Given the description of an element on the screen output the (x, y) to click on. 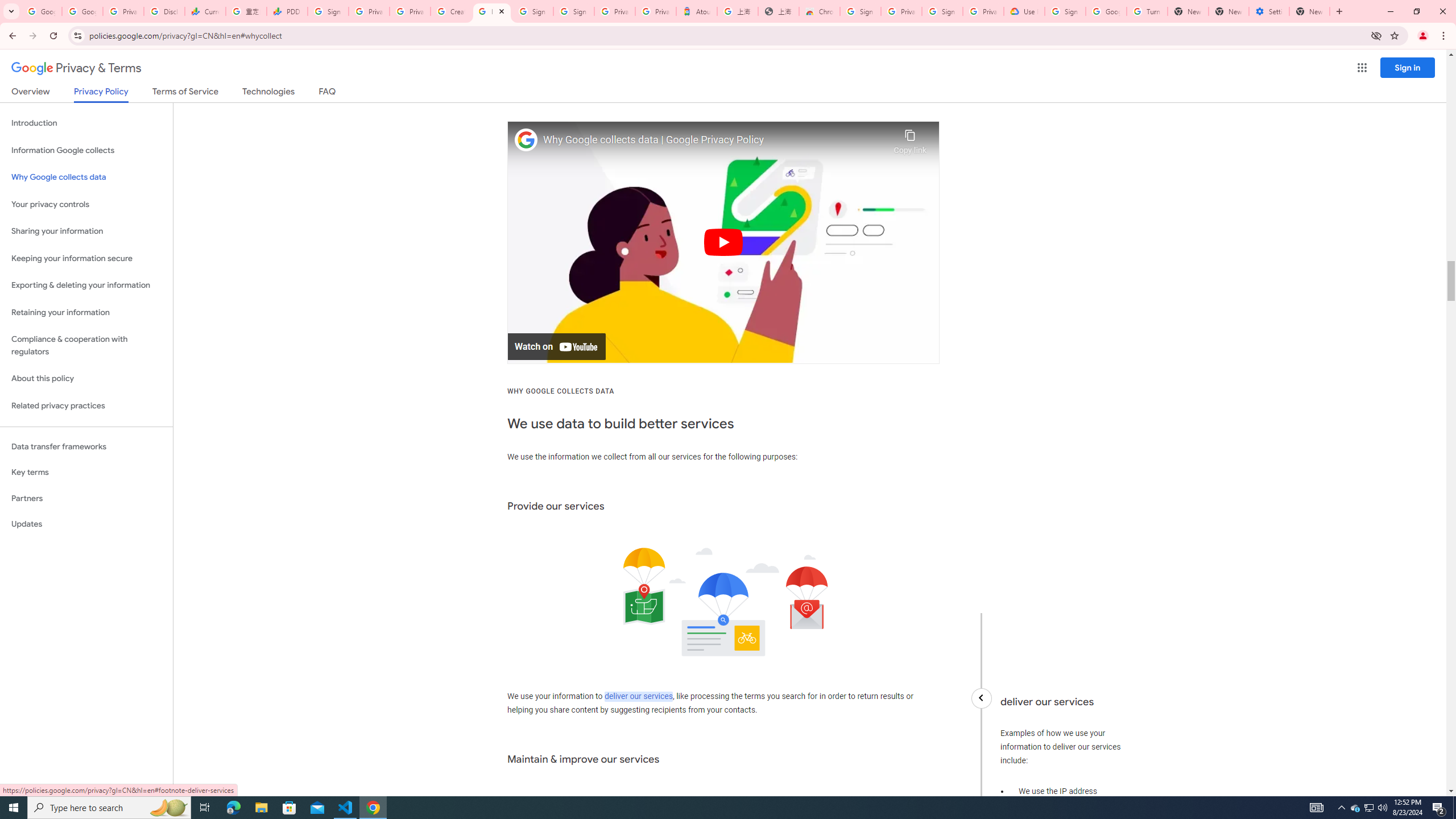
Google Workspace Admin Community (41, 11)
Atour Hotel - Google hotels (696, 11)
